Given the description of an element on the screen output the (x, y) to click on. 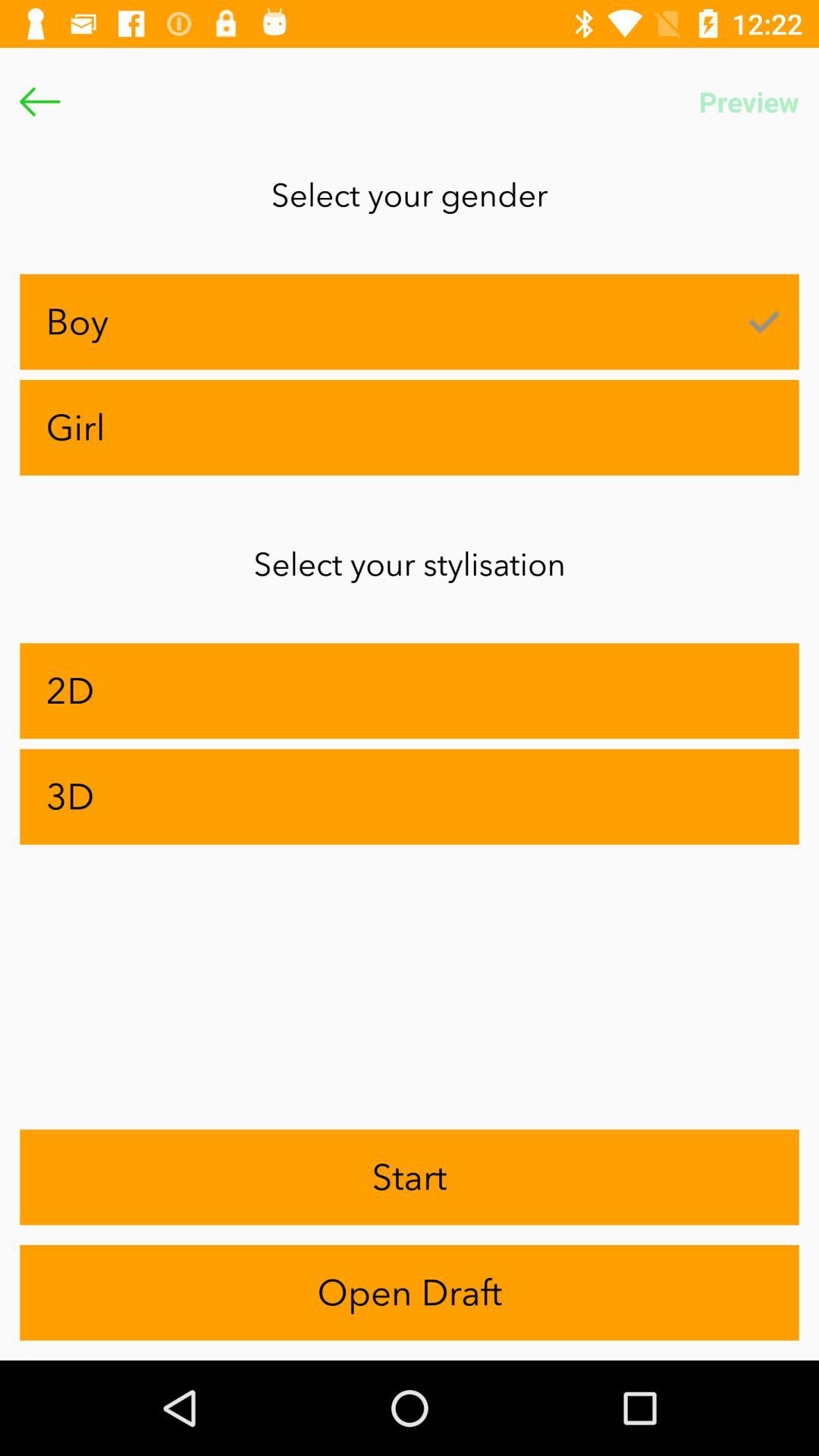
turn on app below 3d item (409, 1177)
